Given the description of an element on the screen output the (x, y) to click on. 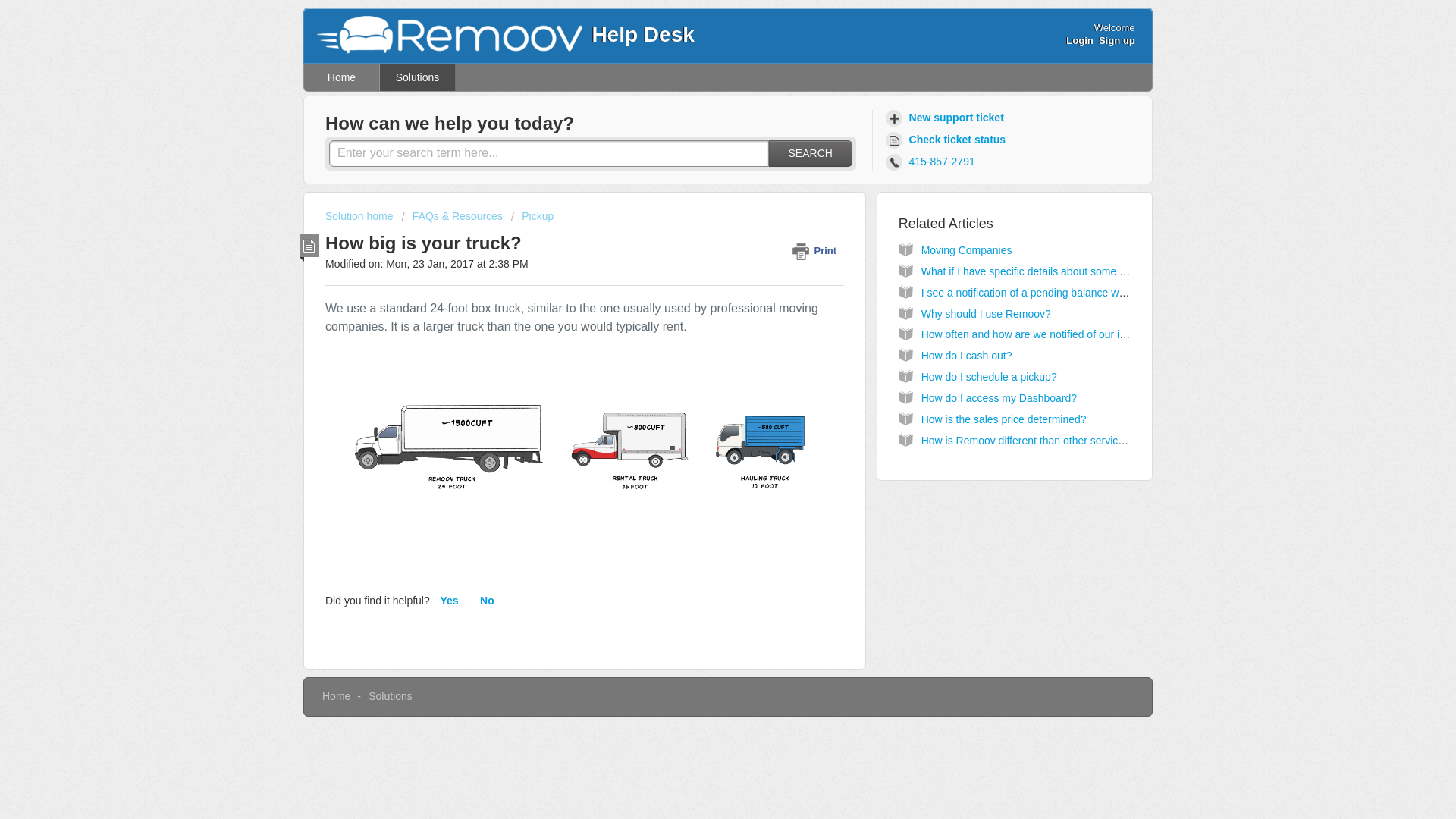
Solutions (390, 695)
SEARCH (809, 153)
How do I access my Dashboard? (999, 398)
Sign up (1117, 40)
Check ticket status (947, 139)
How often and how are we notified of our items? (1034, 334)
How is the sales price determined? (1003, 419)
New support ticket (946, 117)
Home (342, 77)
